Given the description of an element on the screen output the (x, y) to click on. 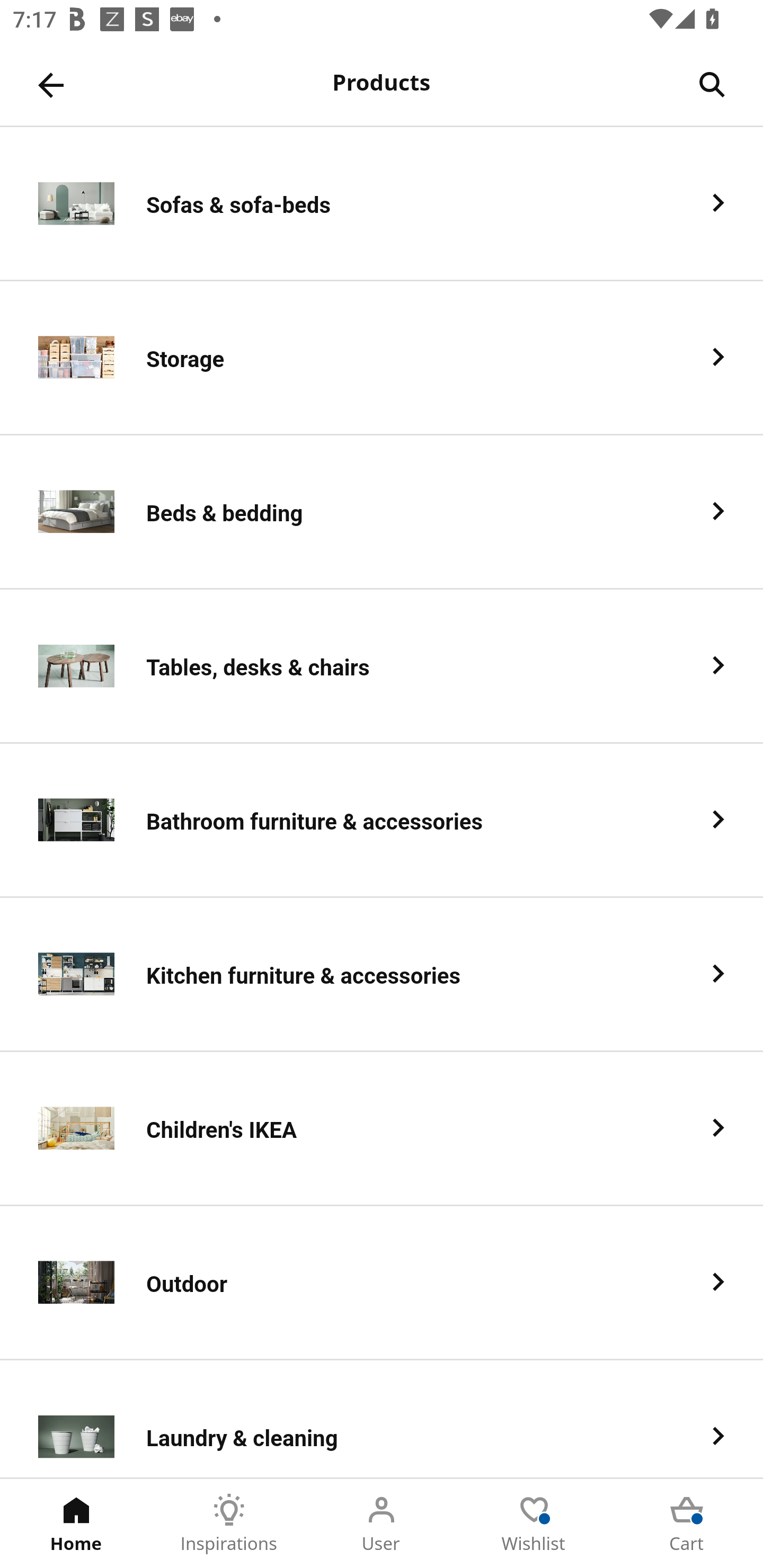
Sofas & sofa-beds (381, 203)
Storage (381, 357)
Beds & bedding (381, 512)
Tables, desks & chairs (381, 666)
Bathroom furniture & accessories (381, 820)
Kitchen furniture & accessories (381, 975)
Children's IKEA (381, 1128)
Outdoor (381, 1283)
Laundry & cleaning (381, 1419)
Home
Tab 1 of 5 (76, 1522)
Inspirations
Tab 2 of 5 (228, 1522)
User
Tab 3 of 5 (381, 1522)
Wishlist
Tab 4 of 5 (533, 1522)
Cart
Tab 5 of 5 (686, 1522)
